Given the description of an element on the screen output the (x, y) to click on. 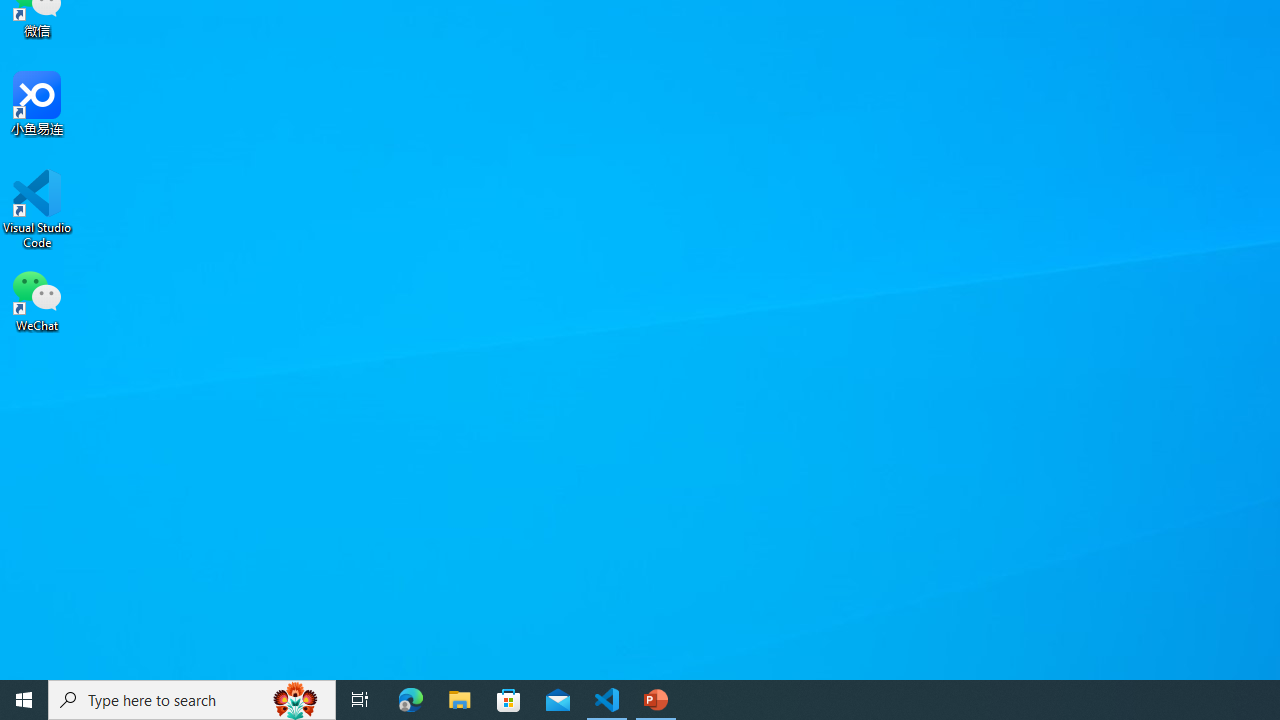
Visual Studio Code (37, 209)
WeChat (37, 299)
